Given the description of an element on the screen output the (x, y) to click on. 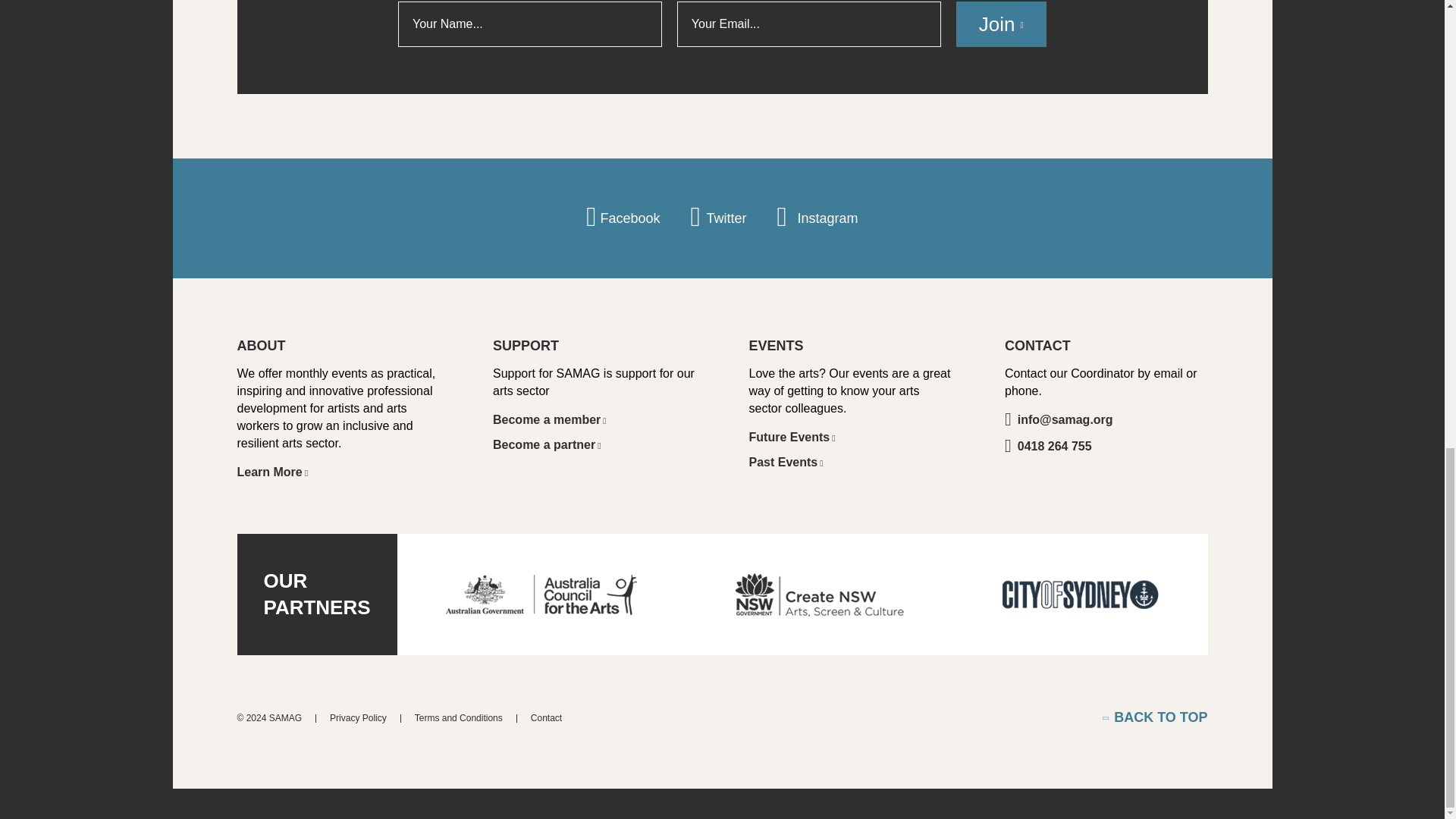
Facebook (622, 218)
Twitter (718, 218)
Instagram (816, 218)
